Given the description of an element on the screen output the (x, y) to click on. 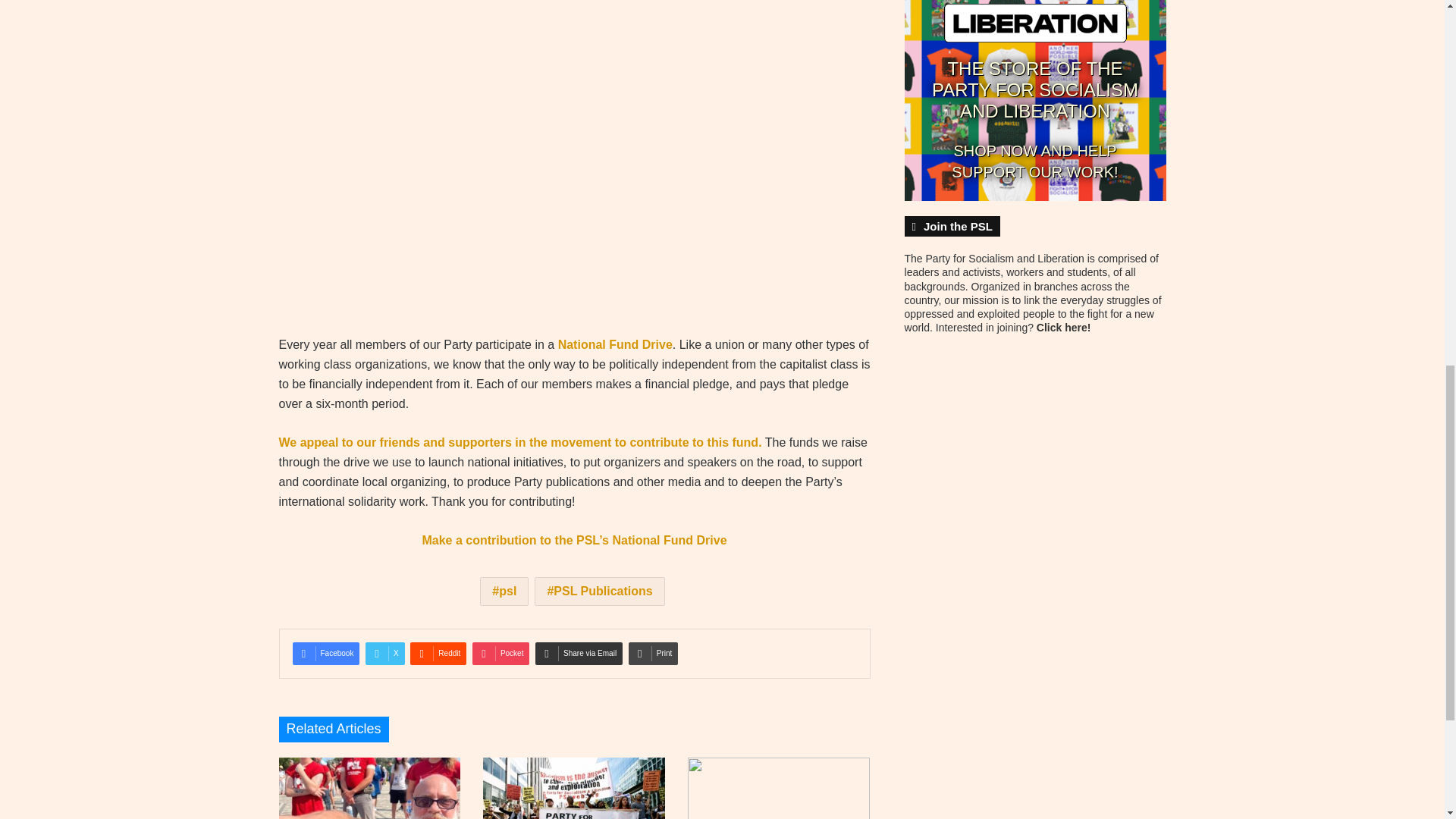
Pocket (500, 653)
National Fund Drive (614, 344)
Print (653, 653)
X (384, 653)
Reddit (437, 653)
Share via Email (579, 653)
Facebook (325, 653)
